Given the description of an element on the screen output the (x, y) to click on. 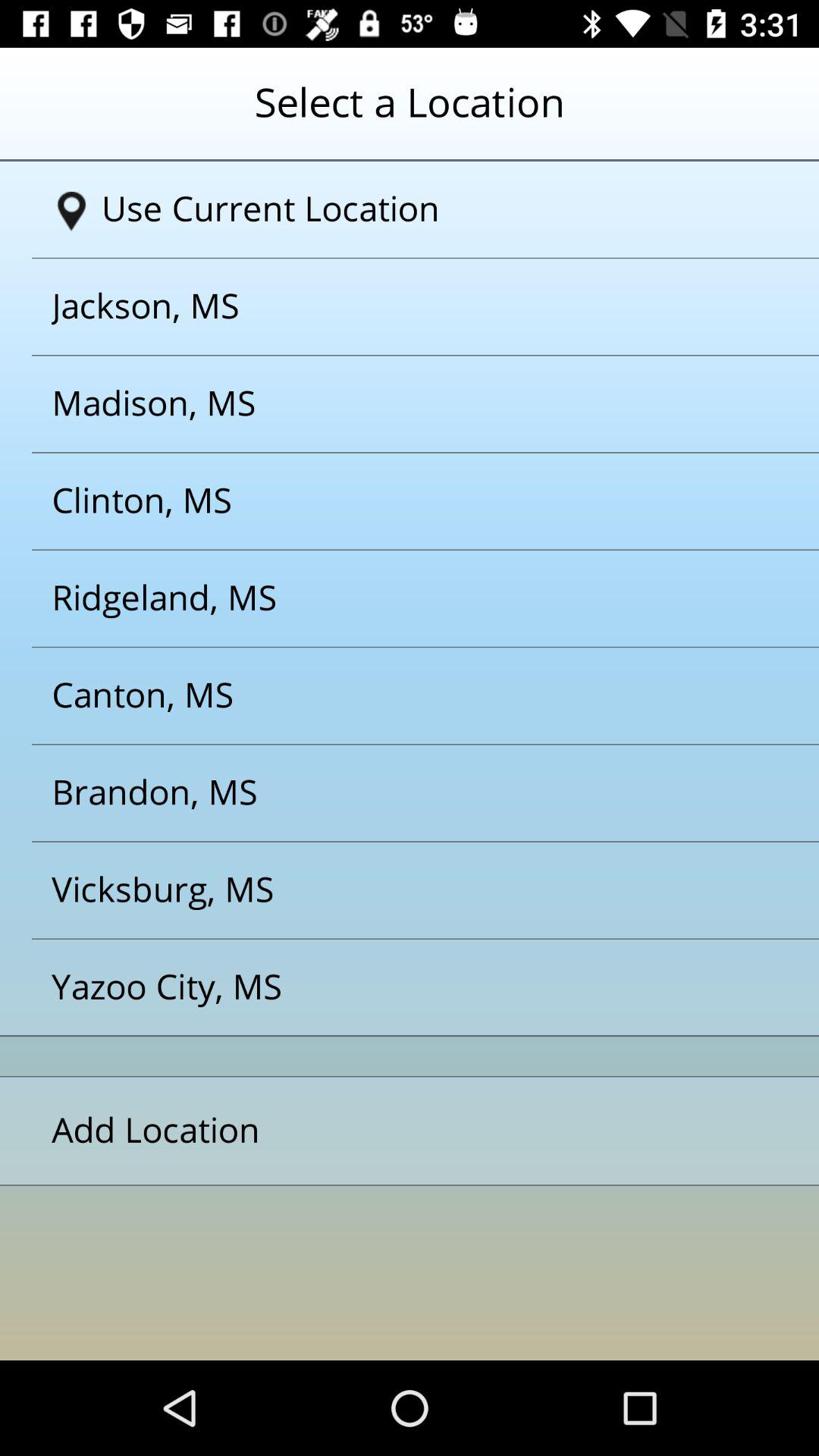
click on clinton ms (390, 501)
click on jackson ms (390, 307)
click on yazoo city ms (390, 987)
click on the button below vicksburg ms (390, 987)
click the button jacksonms on the web page (390, 307)
click the button clintonms on the web page (390, 501)
click the button ridgelandms on the web page (390, 598)
select the text which is below the jackson ms (390, 403)
select the third option above the add location (390, 793)
select the seventh option under use current location (390, 891)
click on the fourth option under use current location (390, 598)
